Given the description of an element on the screen output the (x, y) to click on. 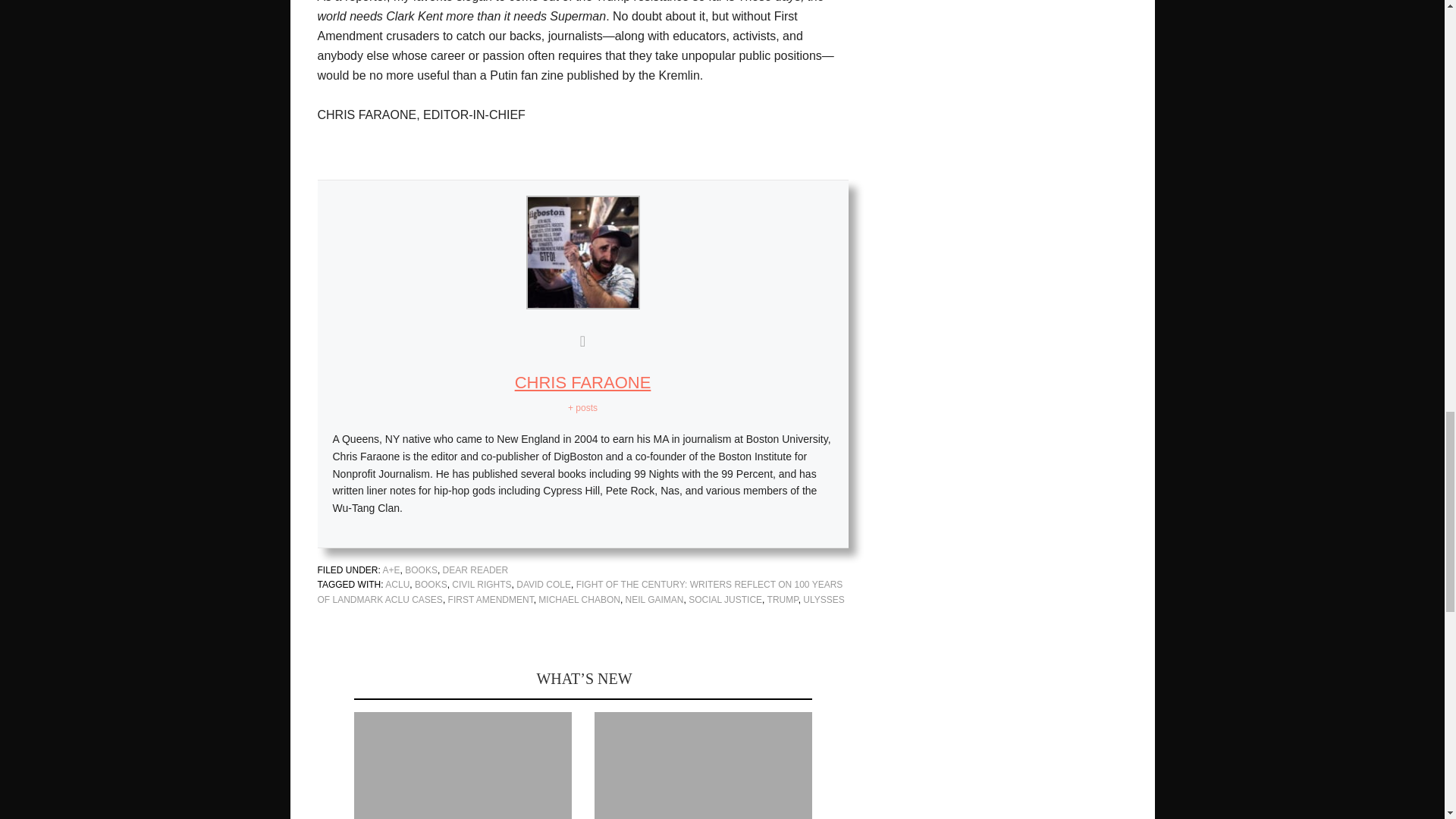
CHRIS FARAONE (582, 382)
